Given the description of an element on the screen output the (x, y) to click on. 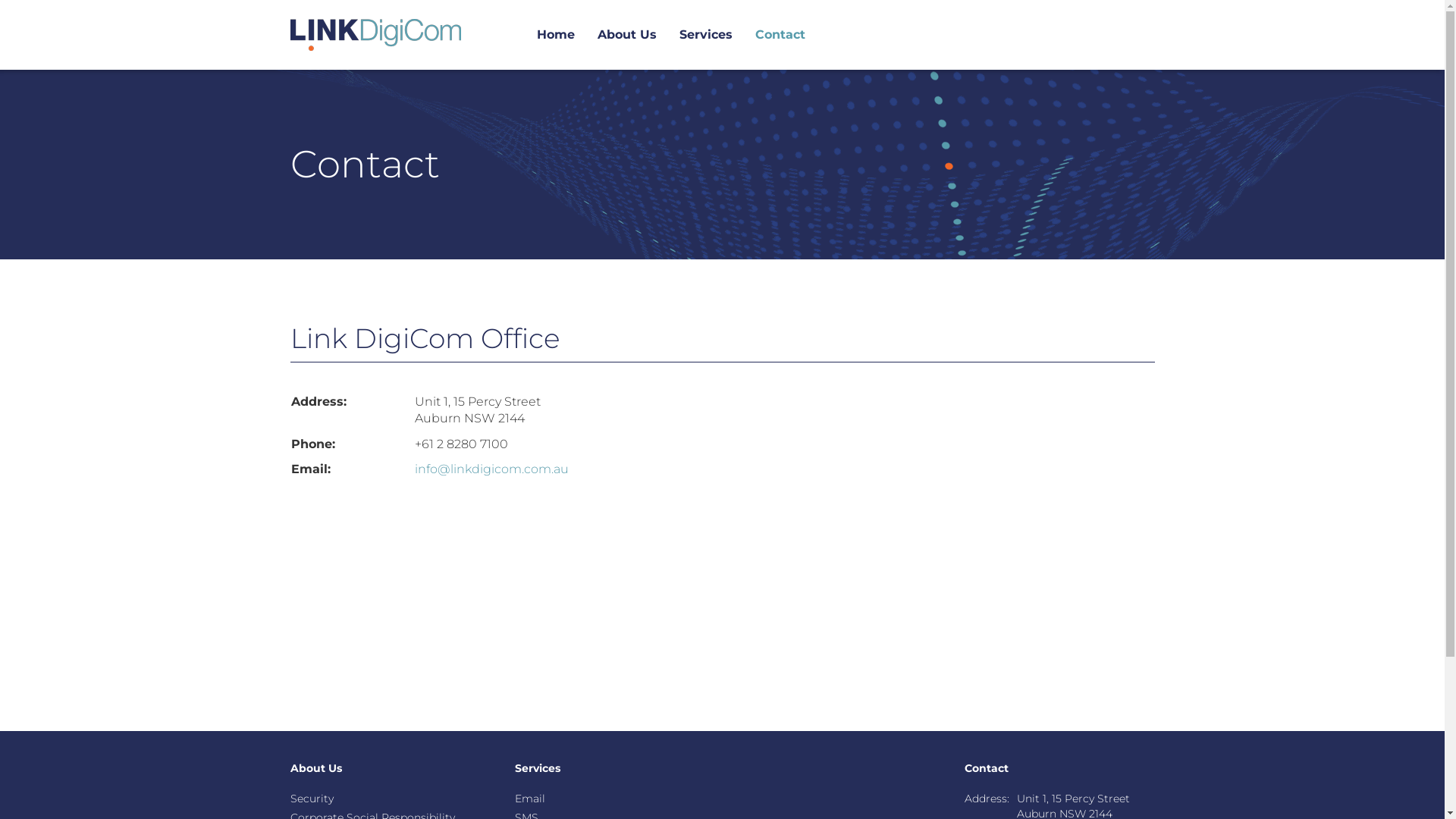
Home Element type: text (555, 34)
info@linkdigicom.com.au Element type: text (491, 468)
About Us Element type: text (626, 34)
Contact Element type: text (986, 768)
Contact Element type: text (780, 34)
Services Element type: text (537, 768)
Services Element type: text (705, 34)
Email Element type: text (529, 798)
About Us Element type: text (315, 768)
Security Element type: text (310, 798)
